Given the description of an element on the screen output the (x, y) to click on. 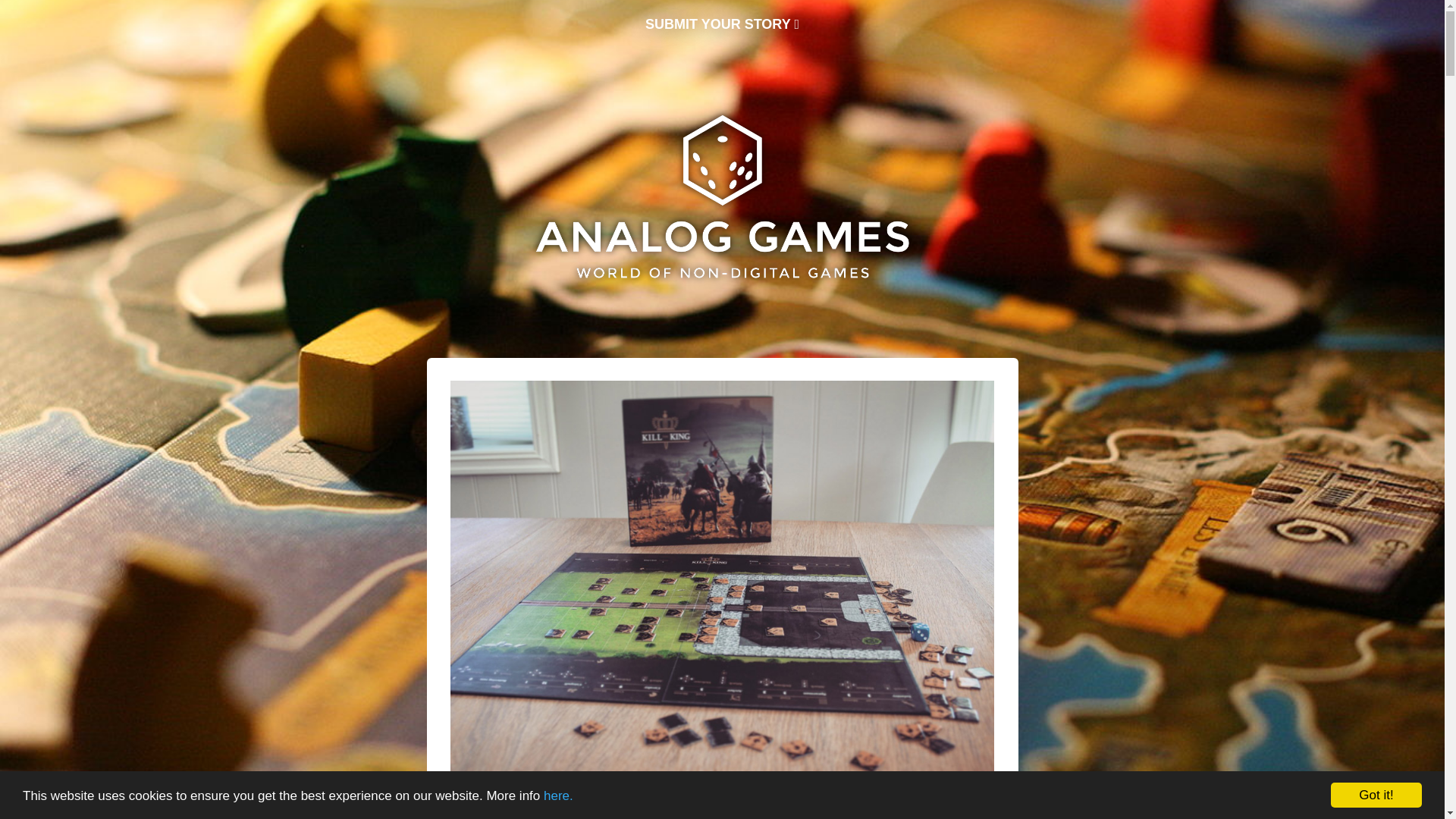
SUBMIT YOUR STORY (722, 24)
